Given the description of an element on the screen output the (x, y) to click on. 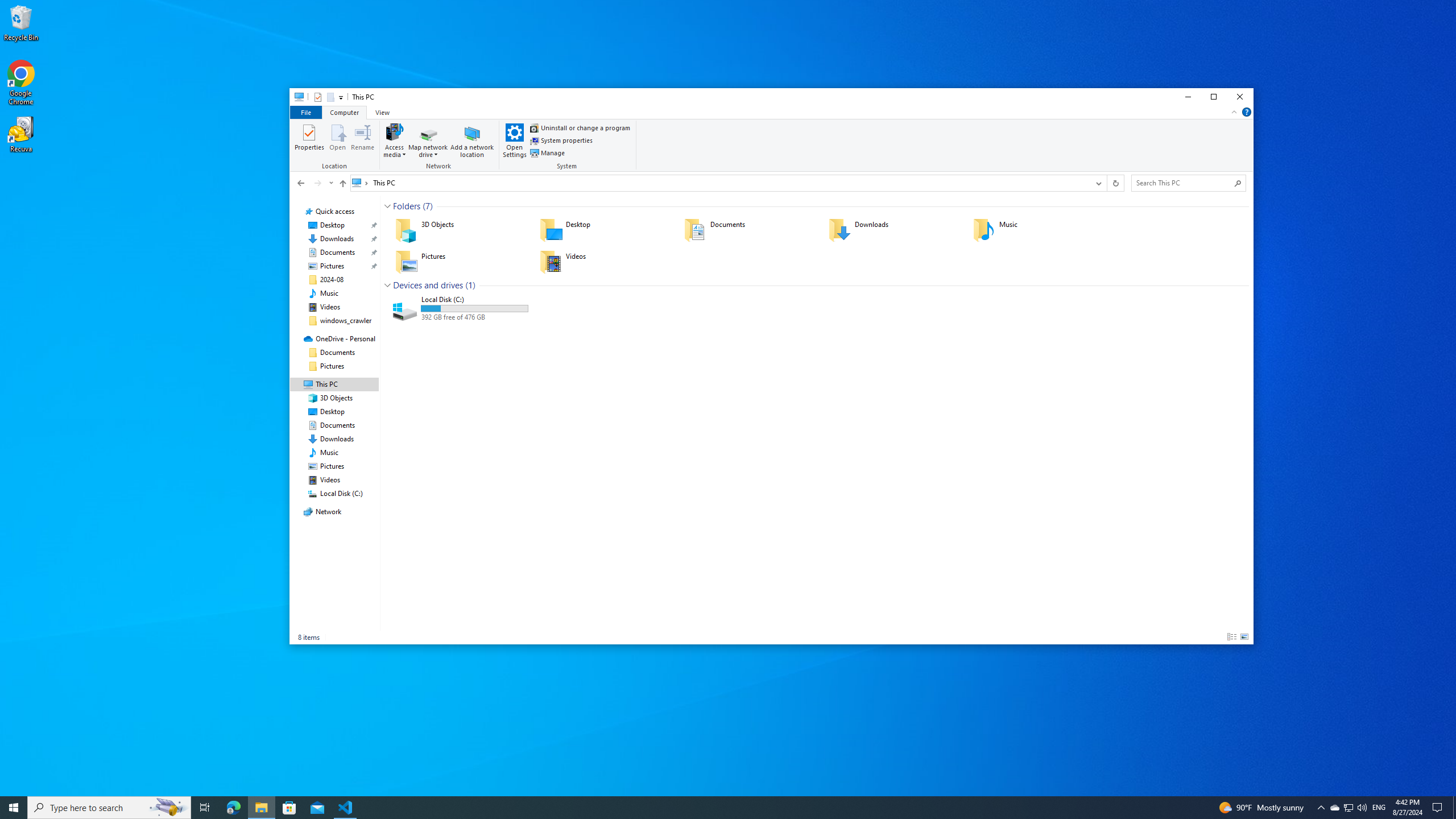
New folder (330, 96)
Documents (748, 229)
Local Disk (C:) (459, 308)
Quick Access Toolbar (323, 96)
System (568, 145)
Music (1037, 229)
Help (1246, 111)
Add a network location (472, 140)
Music (328, 293)
Minimize the Ribbon (1233, 111)
Navigation buttons (314, 182)
